Given the description of an element on the screen output the (x, y) to click on. 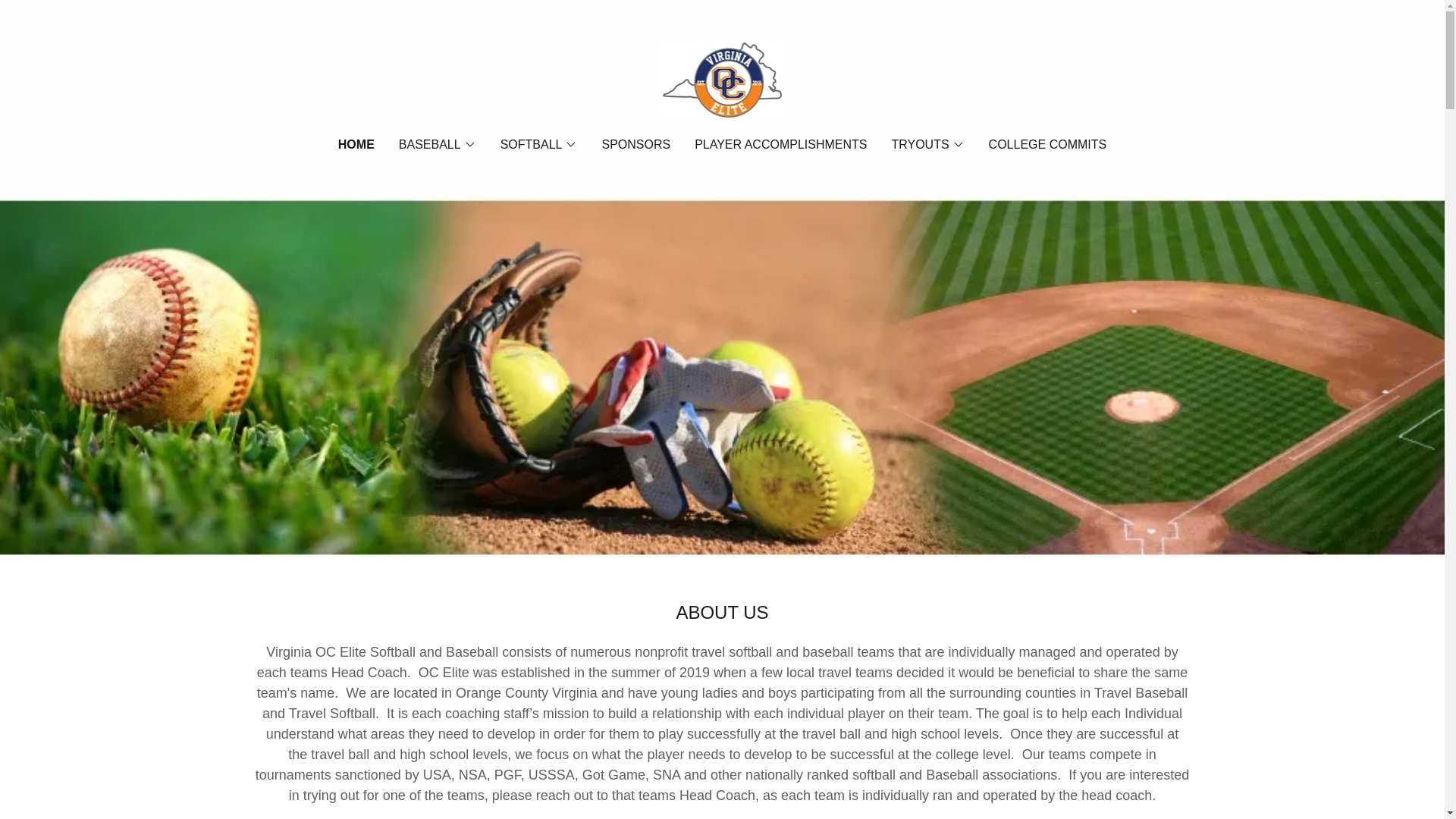
HOME (355, 144)
COLLEGE COMMITS (1048, 144)
SPONSORS (635, 144)
SOFTBALL (539, 144)
BASEBALL (437, 144)
TRYOUTS (927, 144)
PLAYER ACCOMPLISHMENTS (780, 144)
